Given the description of an element on the screen output the (x, y) to click on. 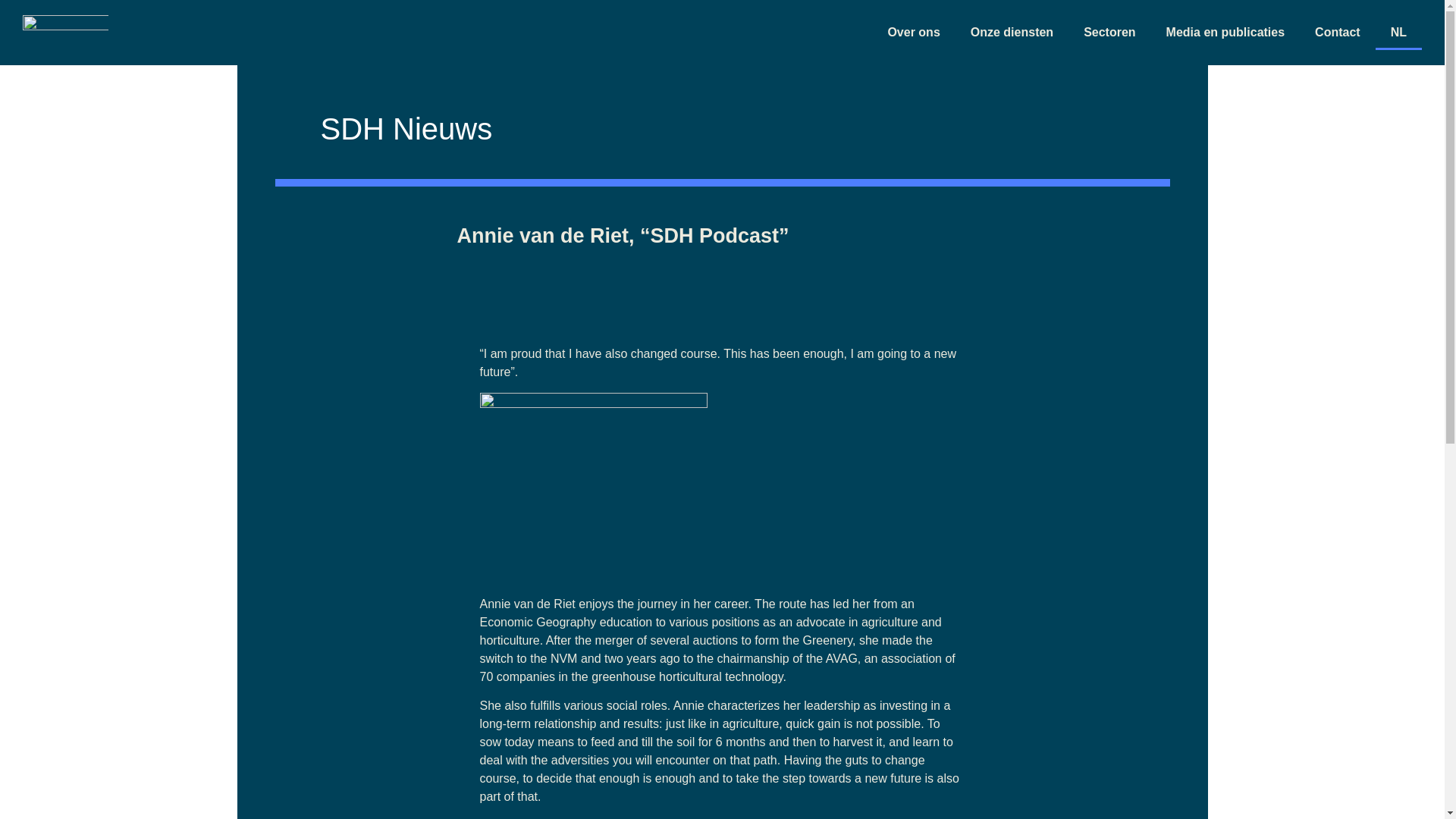
Contact (1337, 32)
NL (1398, 32)
Over ons (913, 32)
Onze diensten (1011, 32)
Media en publicaties (1225, 32)
Annie van de Riet (527, 603)
NL (1398, 32)
Sectoren (1109, 32)
